Given the description of an element on the screen output the (x, y) to click on. 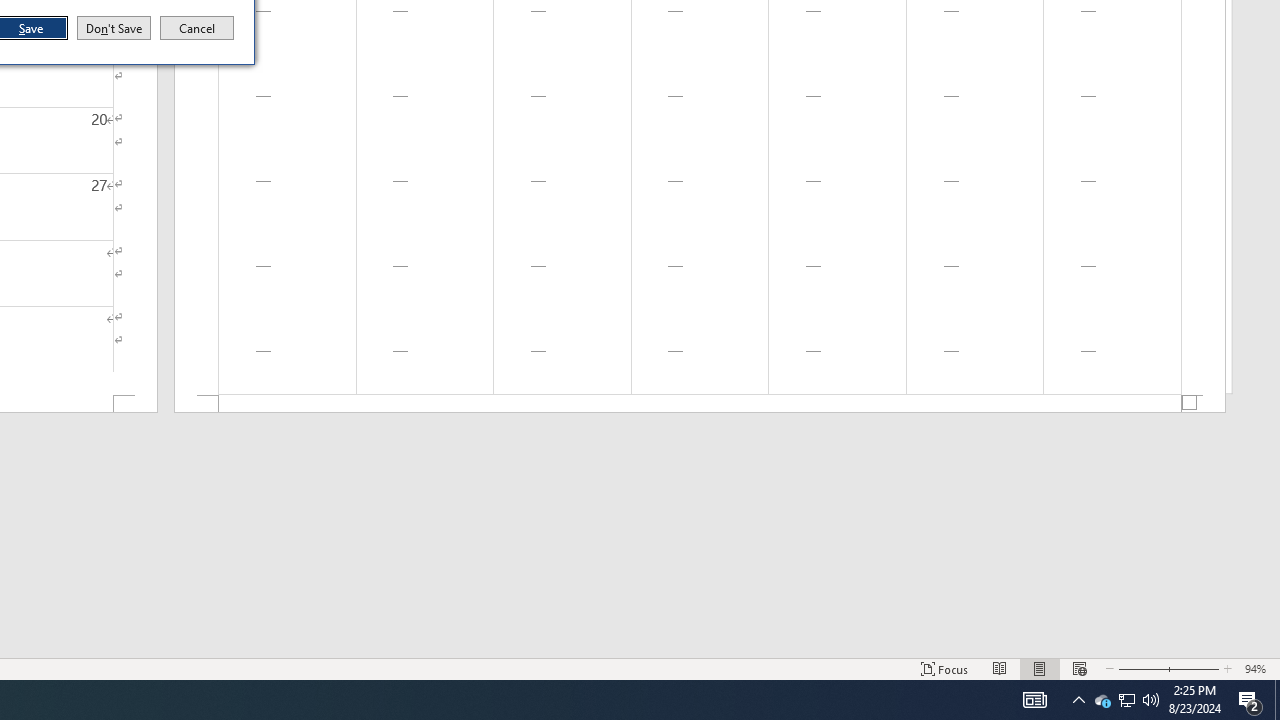
Cancel (1102, 699)
User Promoted Notification Area (197, 27)
Show desktop (1126, 699)
Q2790: 100% (1126, 699)
Notification Chevron (1277, 699)
Don't Save (1151, 699)
AutomationID: 4105 (1078, 699)
